Given the description of an element on the screen output the (x, y) to click on. 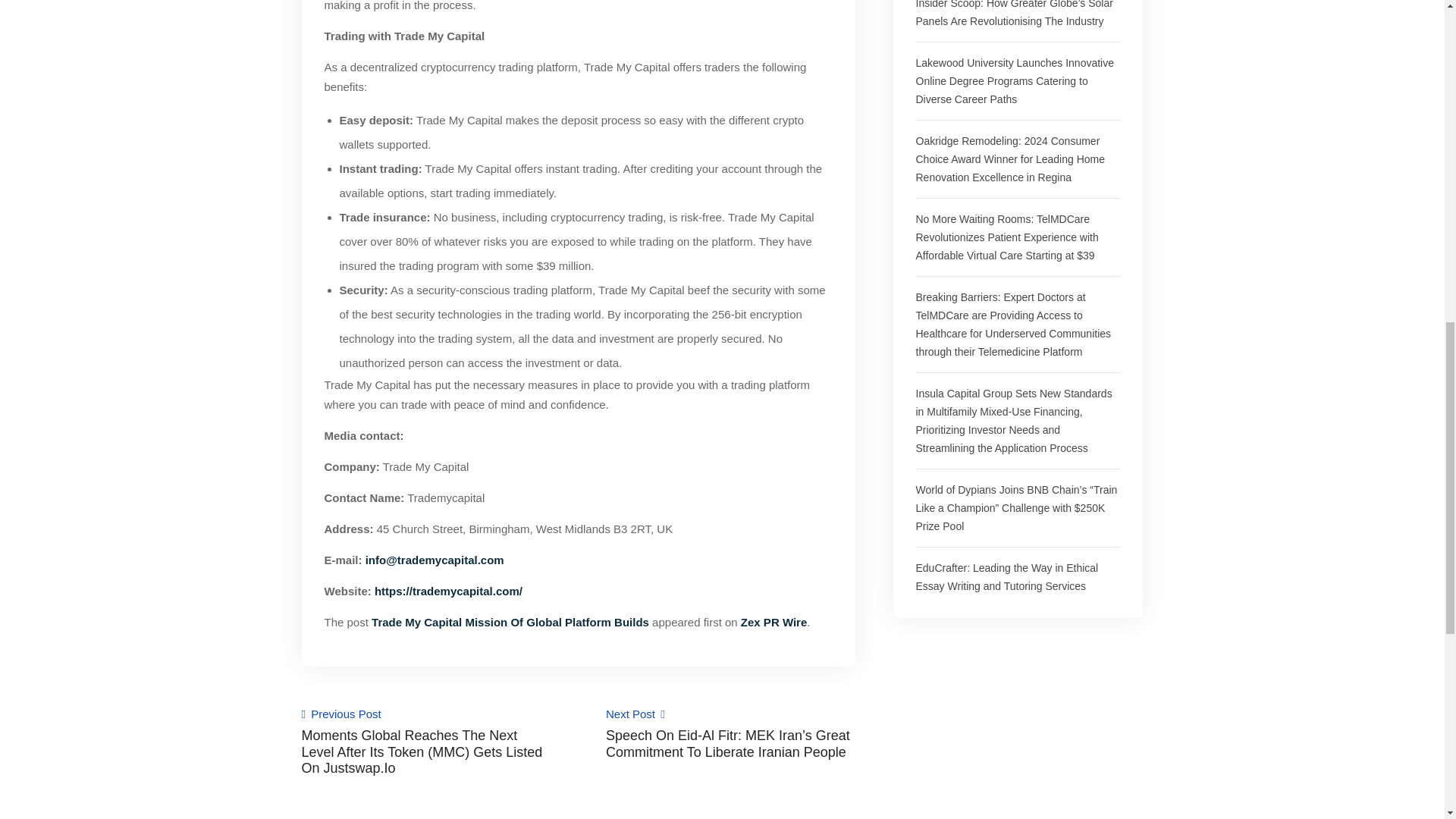
Zex PR Wire (773, 621)
Trade My Capital Mission Of Global Platform Builds (510, 621)
